Given the description of an element on the screen output the (x, y) to click on. 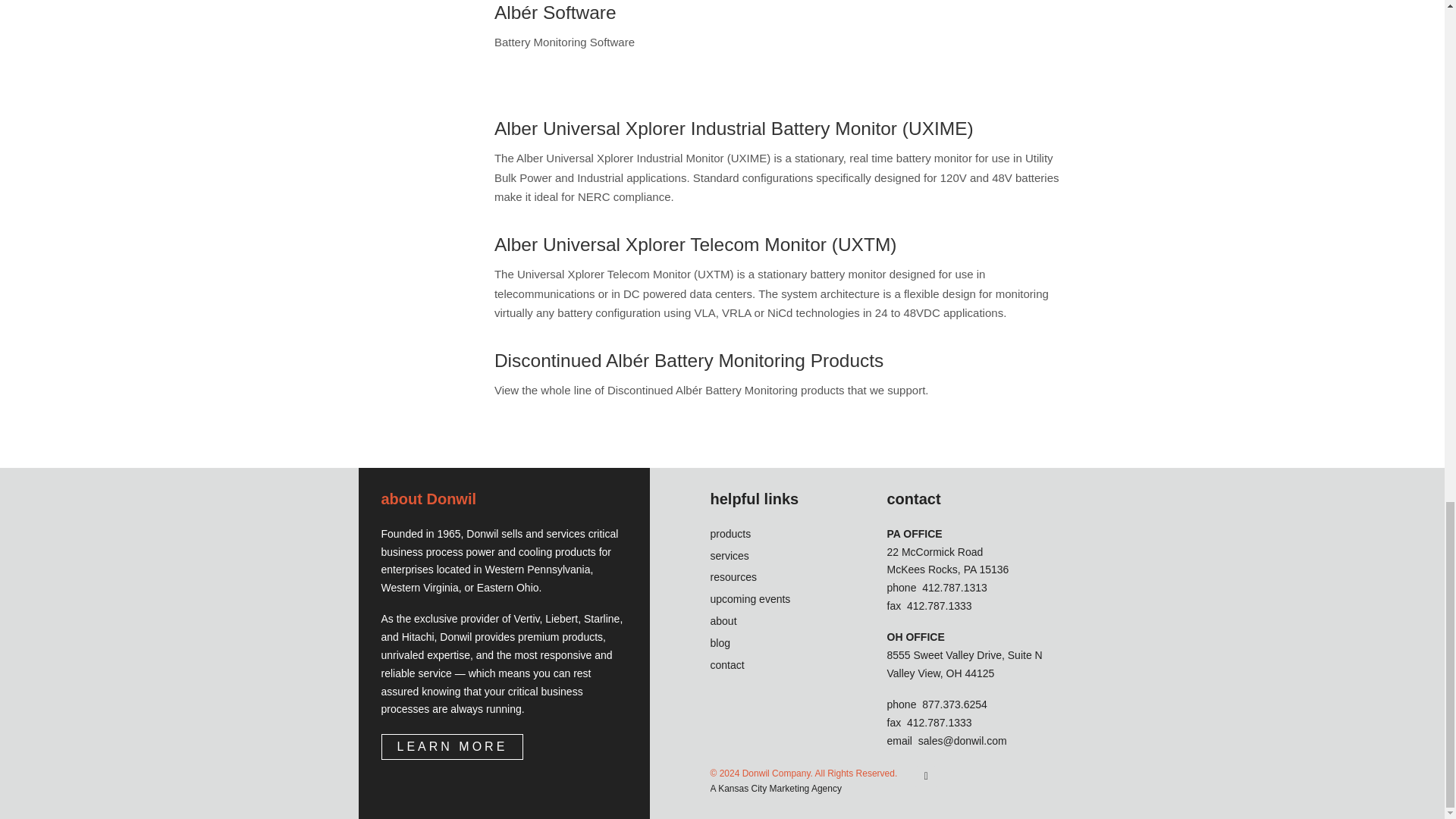
A Kansas City Marketing Agency (803, 788)
